Given the description of an element on the screen output the (x, y) to click on. 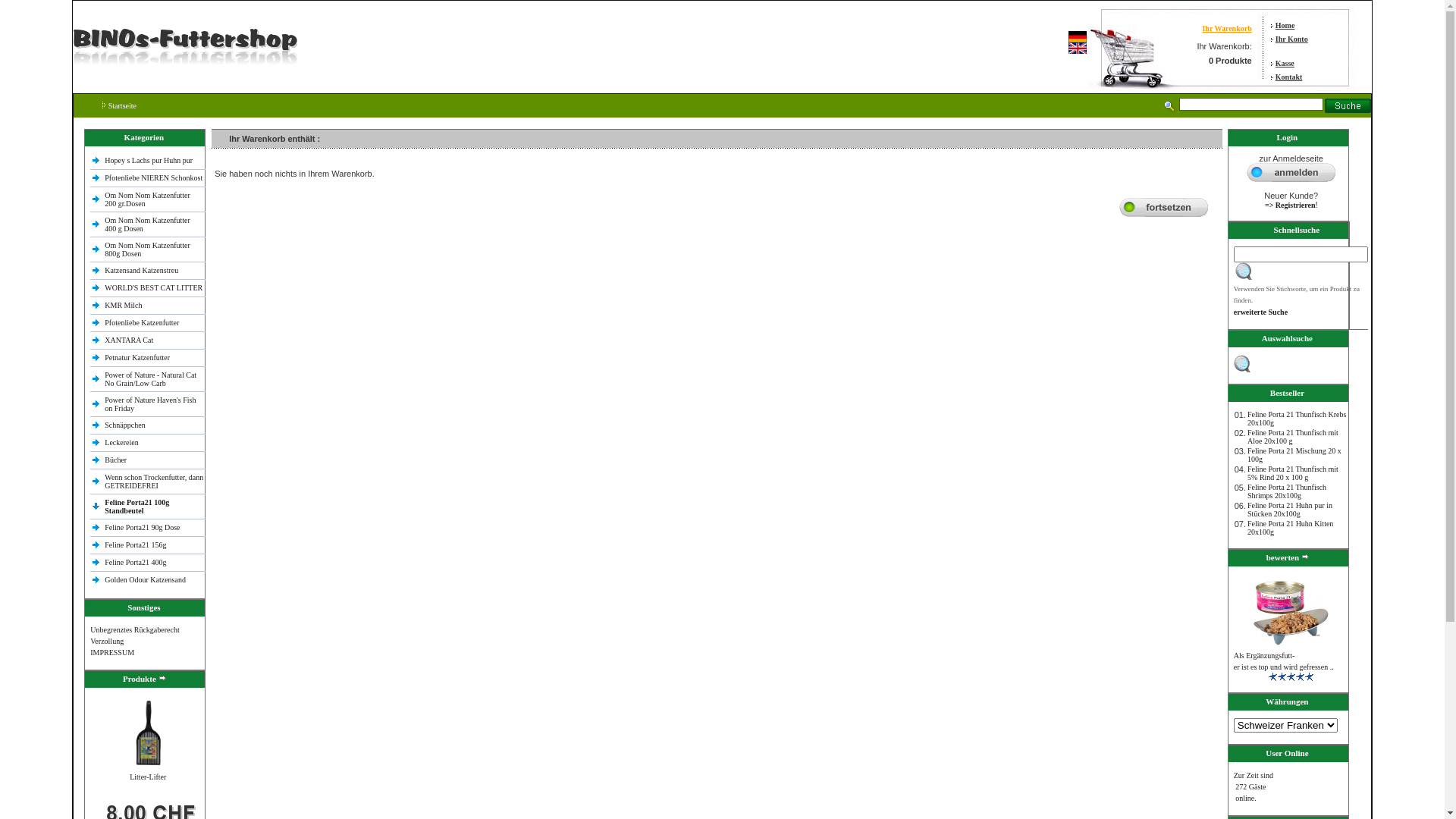
Feline Porta 21 Thunfisch Krebs 20x100g Element type: text (1296, 417)
Feline Porta21 90g Dose Element type: text (141, 527)
 Schnellsuche  Element type: hover (1241, 363)
Wenn schon Trockenfutter, dann GETREIDEFREI Element type: text (153, 481)
Feline Porta 21 Thunfisch Shrimps 20x100g Element type: text (1286, 490)
Home Element type: text (1285, 25)
 more  Element type: hover (162, 677)
Power of Nature Haven's Fish on Friday Element type: text (149, 403)
Power of Nature - Natural Cat No Grain/Low Carb Element type: text (150, 378)
Kasse Element type: text (1284, 63)
 deutsch  Element type: hover (1077, 36)
Pfotenliebe NIEREN Schonkost Element type: text (153, 177)
=> Registrieren Element type: text (1290, 208)
Golden Odour Katzensand Element type: text (144, 579)
IMPRESSUM Element type: text (112, 651)
Leckereien Element type: text (121, 442)
Feline Porta 21 Thunfisch mit Aloe 20x100 g Element type: text (1292, 435)
Hopey s Lachs pur Huhn pur Element type: text (148, 160)
KMR Milch Element type: text (122, 305)
Pfotenliebe Katzenfutter Element type: text (141, 322)
WORLD'S BEST CAT LITTER Element type: text (153, 287)
Feline Porta 21 Huhn Kitten 20x100g Element type: text (1290, 526)
Ihr Konto Element type: text (1291, 38)
Feline Porta 21 Mischung 20 x 100g Element type: text (1294, 453)
Om Nom Nom Katzenfutter 200 gr.Dosen Element type: text (146, 199)
 Schnellsuche  Element type: hover (1243, 270)
erweiterte Suche Element type: text (1260, 311)
Startseite Element type: text (111, 105)
 Litter-Lifter  Element type: hover (147, 732)
 Weiter  Element type: hover (1163, 206)
Verzollung Element type: text (106, 641)
Litter-Lifter Element type: text (147, 775)
 Anmelden  Element type: hover (1290, 171)
Ihr Warenkorb Element type: text (1226, 28)
Katzensand Katzenstreu Element type: text (141, 270)
 Feline Porta 21 Thunfisch Shrimps 24x156g  Element type: hover (1291, 611)
Feline Porta21 156g Element type: text (135, 544)
 englisch  Element type: hover (1077, 47)
Om Nom Nom Katzenfutter 800g Dosen Element type: text (146, 249)
Om Nom Nom Katzenfutter 400 g Dosen Element type: text (146, 223)
Petnatur Katzenfutter Element type: text (136, 357)
Feline Porta 21 Thunfisch mit 5% Rind 20 x 100 g Element type: text (1292, 472)
Feline Porta21 400g Element type: text (135, 562)
XANTARA Cat Element type: text (128, 339)
 5 von 5 Sternen!  Element type: hover (1290, 675)
Kontakt Element type: text (1288, 76)
Feline Porta21 100g Standbeutel Element type: text (136, 505)
 more  Element type: hover (1305, 556)
